Given the description of an element on the screen output the (x, y) to click on. 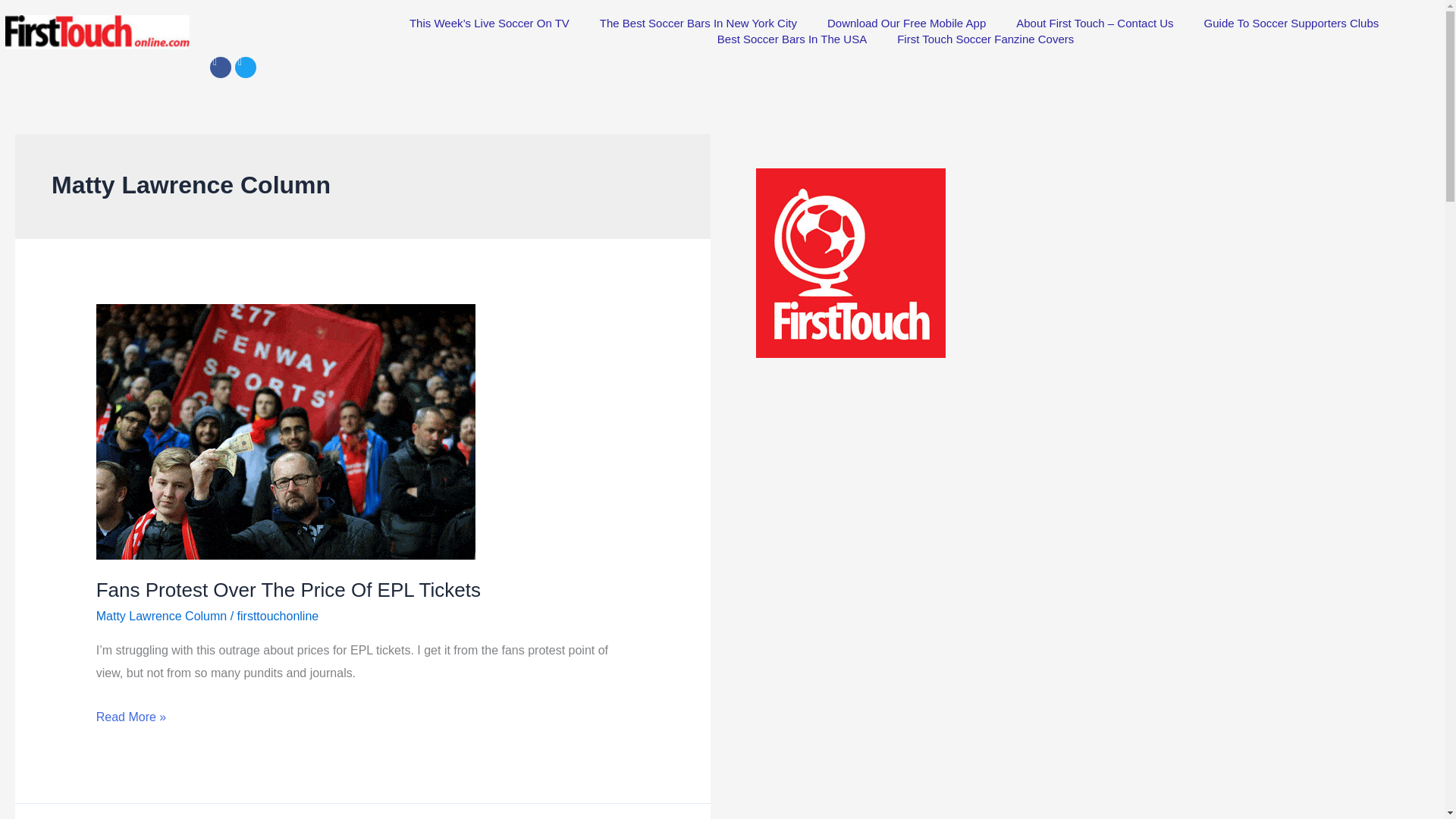
Twitter (245, 66)
Fans Protest Over The Price Of EPL Tickets (288, 589)
firsttouchonline (277, 615)
Matty Lawrence Column (161, 615)
First Touch Soccer Fanzine Covers (985, 38)
Best Soccer Bars In The USA (791, 38)
Download Our Free Mobile App (905, 23)
Guide To Soccer Supporters Clubs (1292, 23)
The Best Soccer Bars In New York City (698, 23)
Facebook (219, 66)
